Given the description of an element on the screen output the (x, y) to click on. 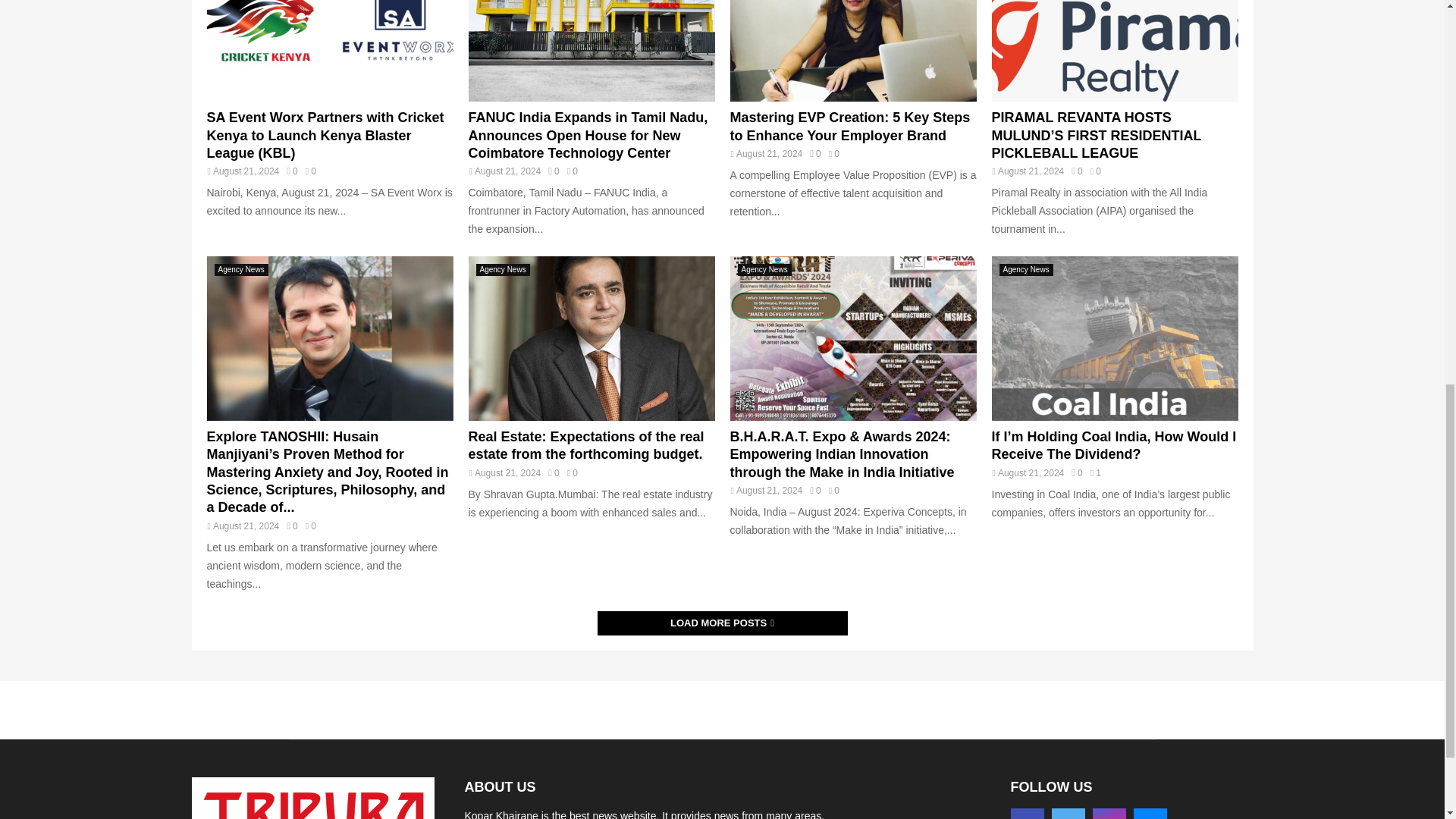
0 (1076, 171)
0 (553, 171)
0 (291, 171)
0 (815, 153)
